Given the description of an element on the screen output the (x, y) to click on. 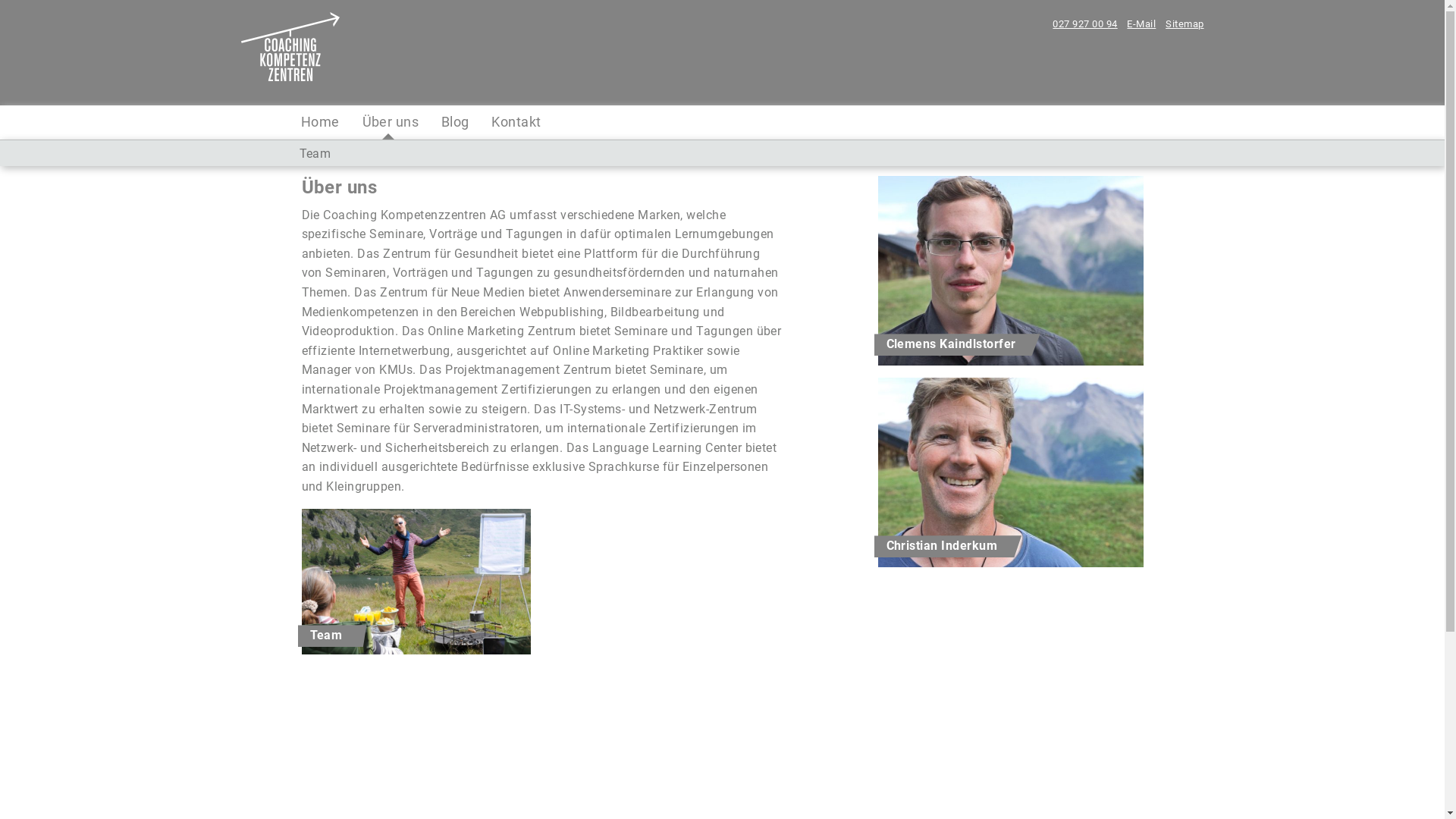
027 927 00 94 Element type: text (1085, 24)
Home Element type: text (321, 121)
Kontakt Element type: text (514, 121)
Blog Element type: text (452, 121)
Sitemap Element type: text (1182, 24)
Team Element type: text (325, 635)
E-Mail Element type: text (1141, 24)
Team Element type: text (314, 153)
